Given the description of an element on the screen output the (x, y) to click on. 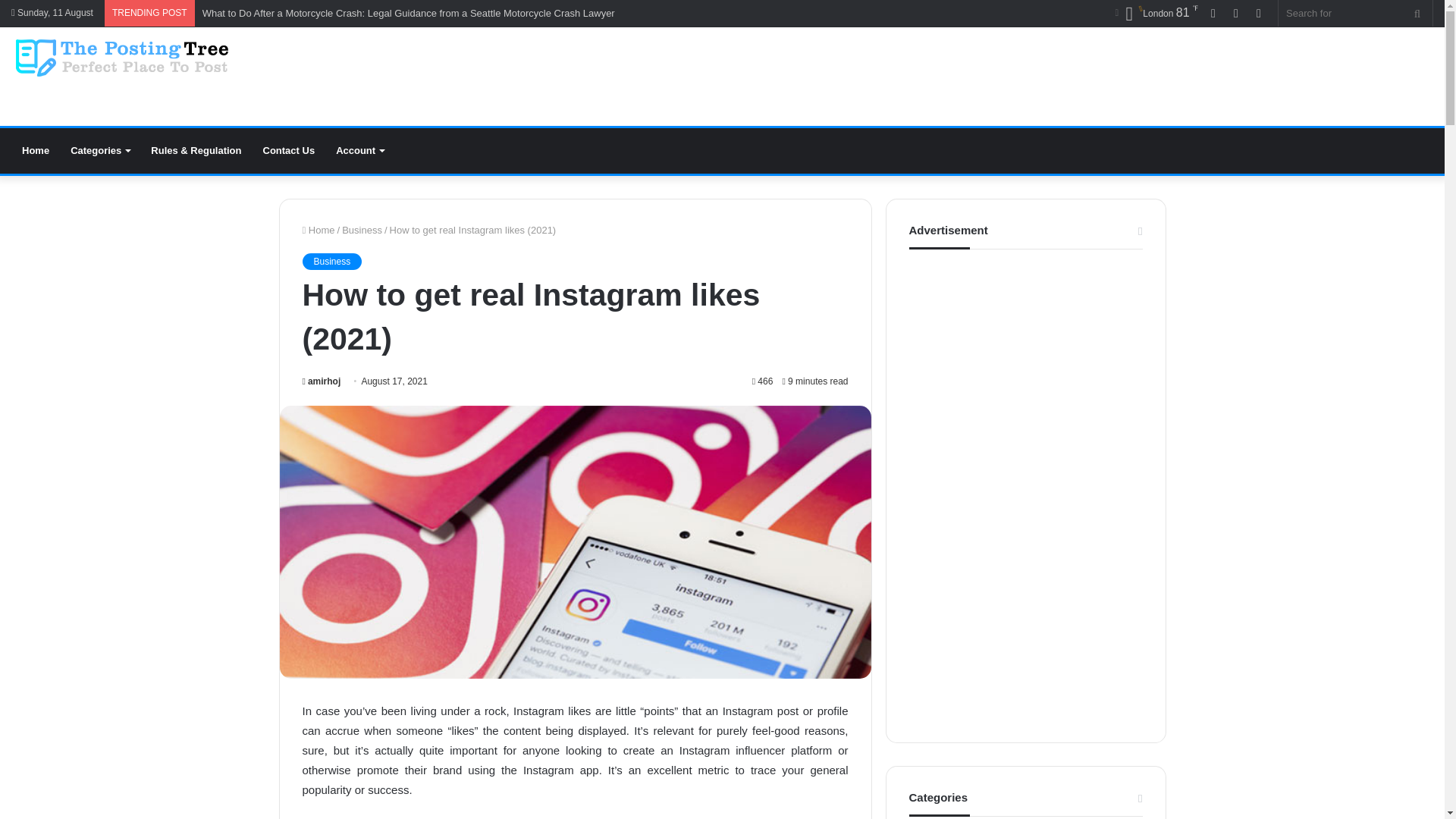
Business (361, 229)
Business (331, 261)
Home (35, 150)
Home (317, 229)
Categories (99, 150)
amirhoj (320, 380)
Account (359, 150)
The Posting Tree (119, 57)
amirhoj (320, 380)
